Given the description of an element on the screen output the (x, y) to click on. 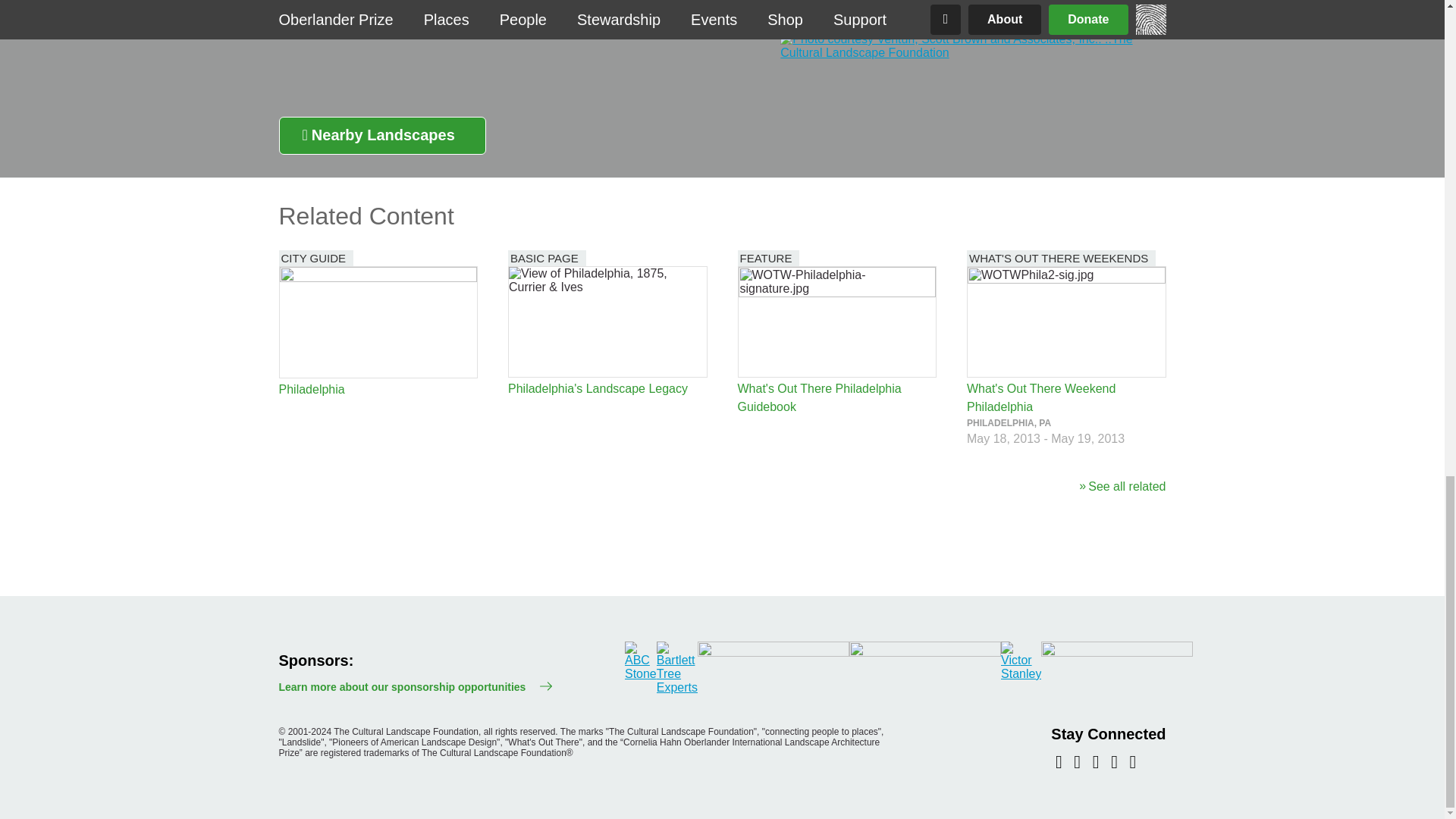
WOTWPhila2-sig.jpg (1067, 321)
WOTW-Philadelphia-signature.jpg (837, 321)
